Given the description of an element on the screen output the (x, y) to click on. 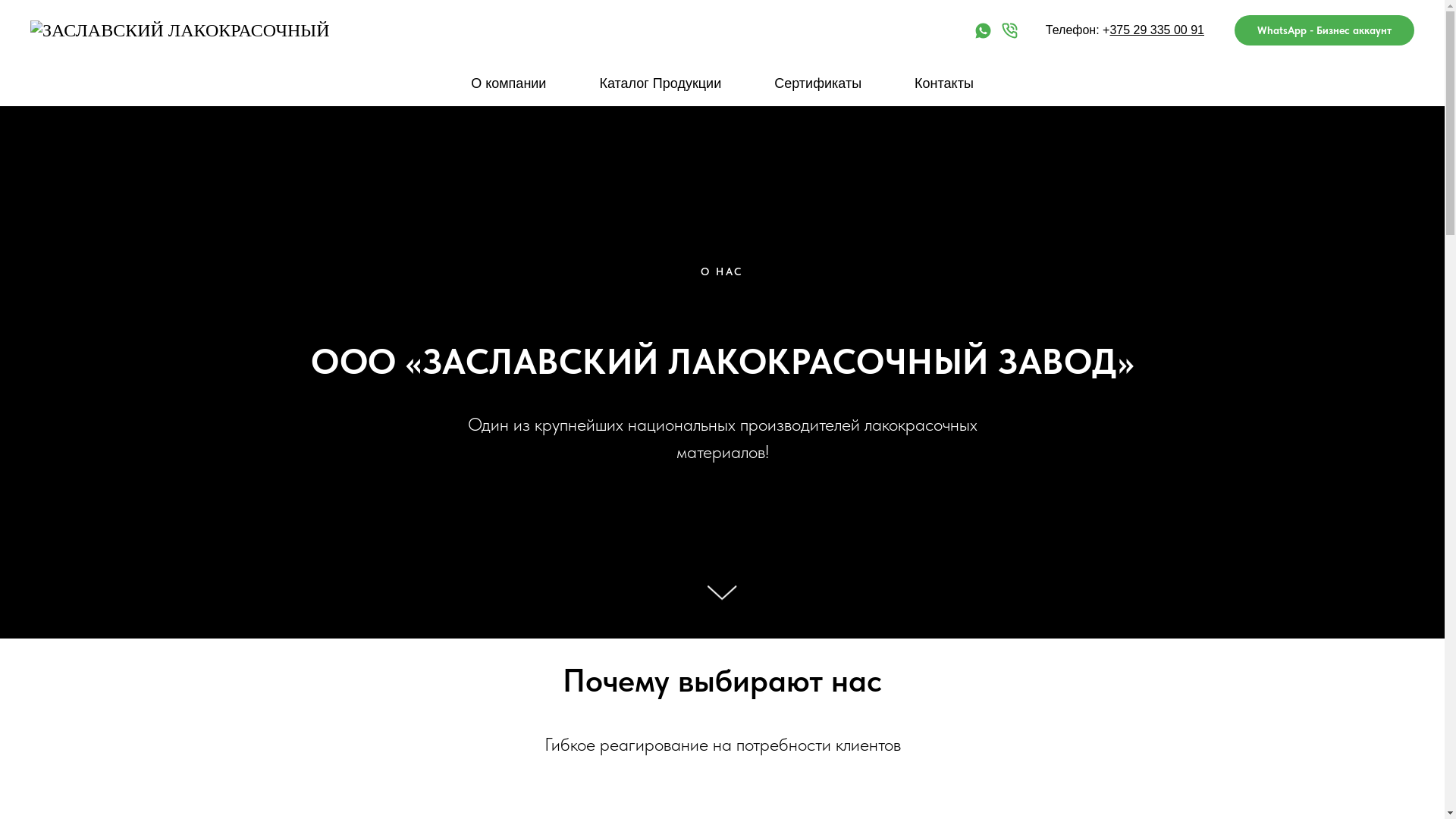
375 29 335 00 91 Element type: text (1156, 29)
